Given the description of an element on the screen output the (x, y) to click on. 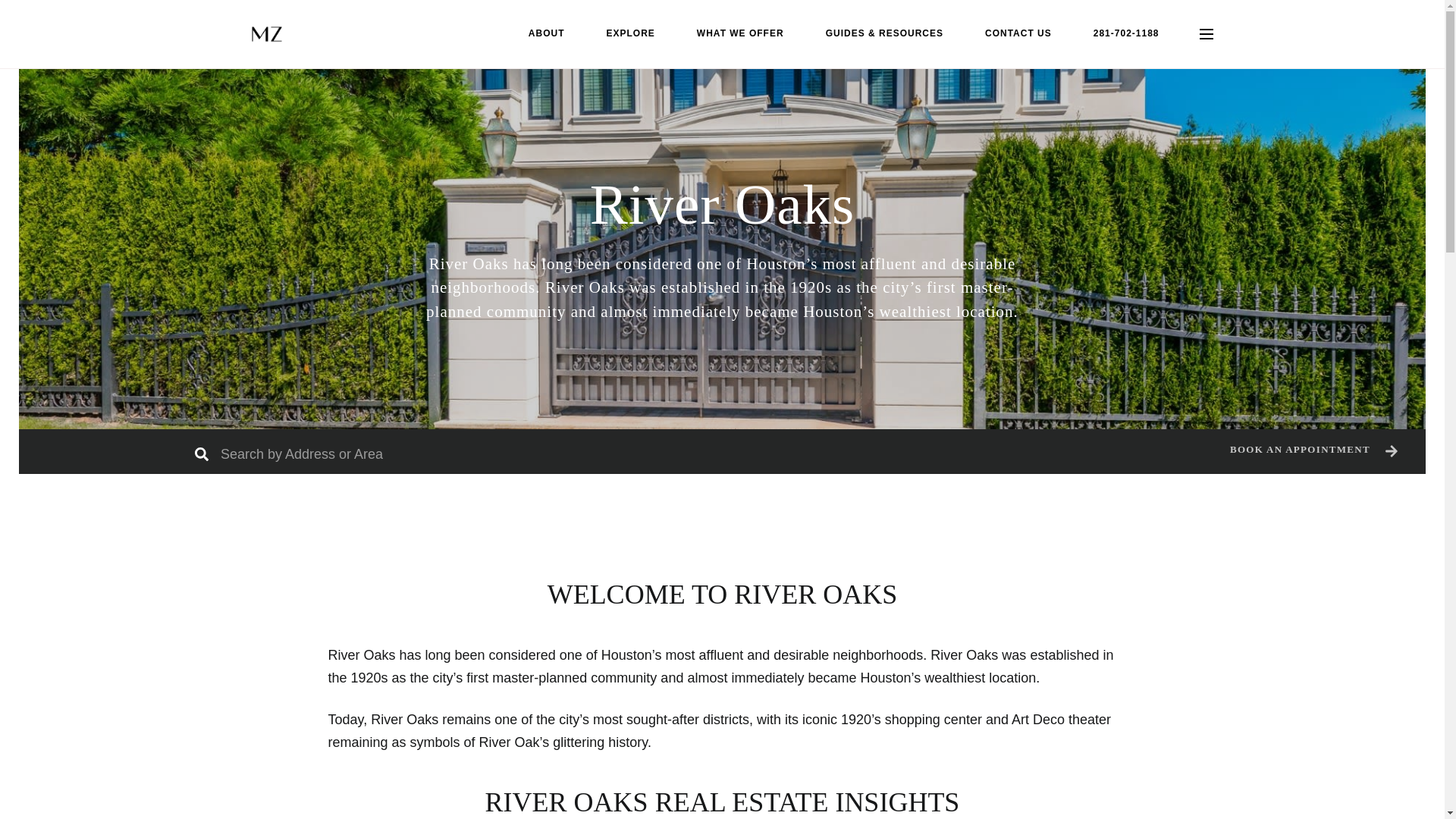
281-702-1188 (1125, 33)
CONTACT US (1018, 33)
ABOUT (546, 33)
